Given the description of an element on the screen output the (x, y) to click on. 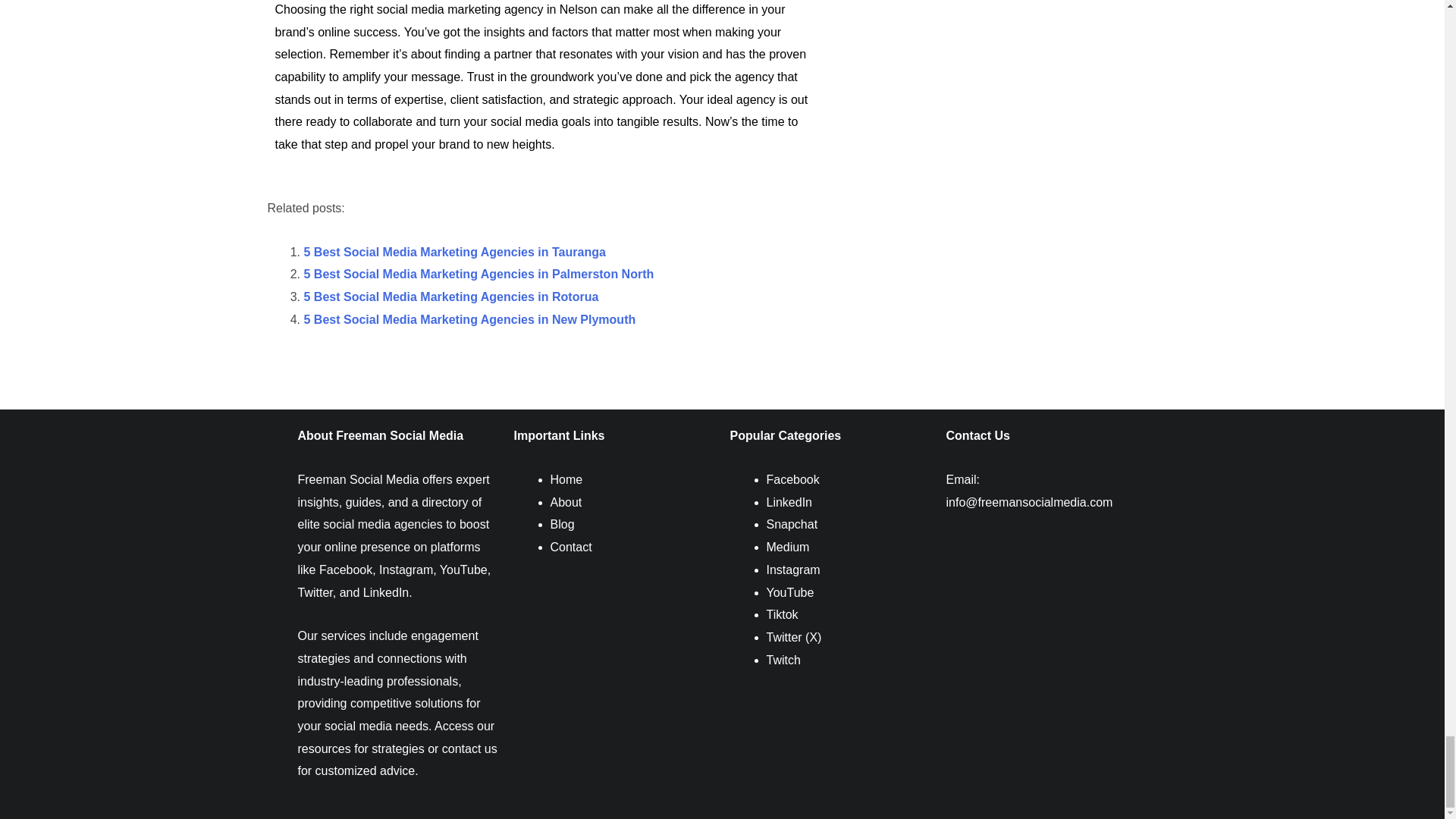
5 Best Social Media Marketing Agencies in New Plymouth (468, 318)
5 Best Social Media Marketing Agencies in Tauranga (453, 251)
5 Best Social Media Marketing Agencies in Rotorua (450, 296)
5 Best Social Media Marketing Agencies in Palmerston North (477, 273)
